Given the description of an element on the screen output the (x, y) to click on. 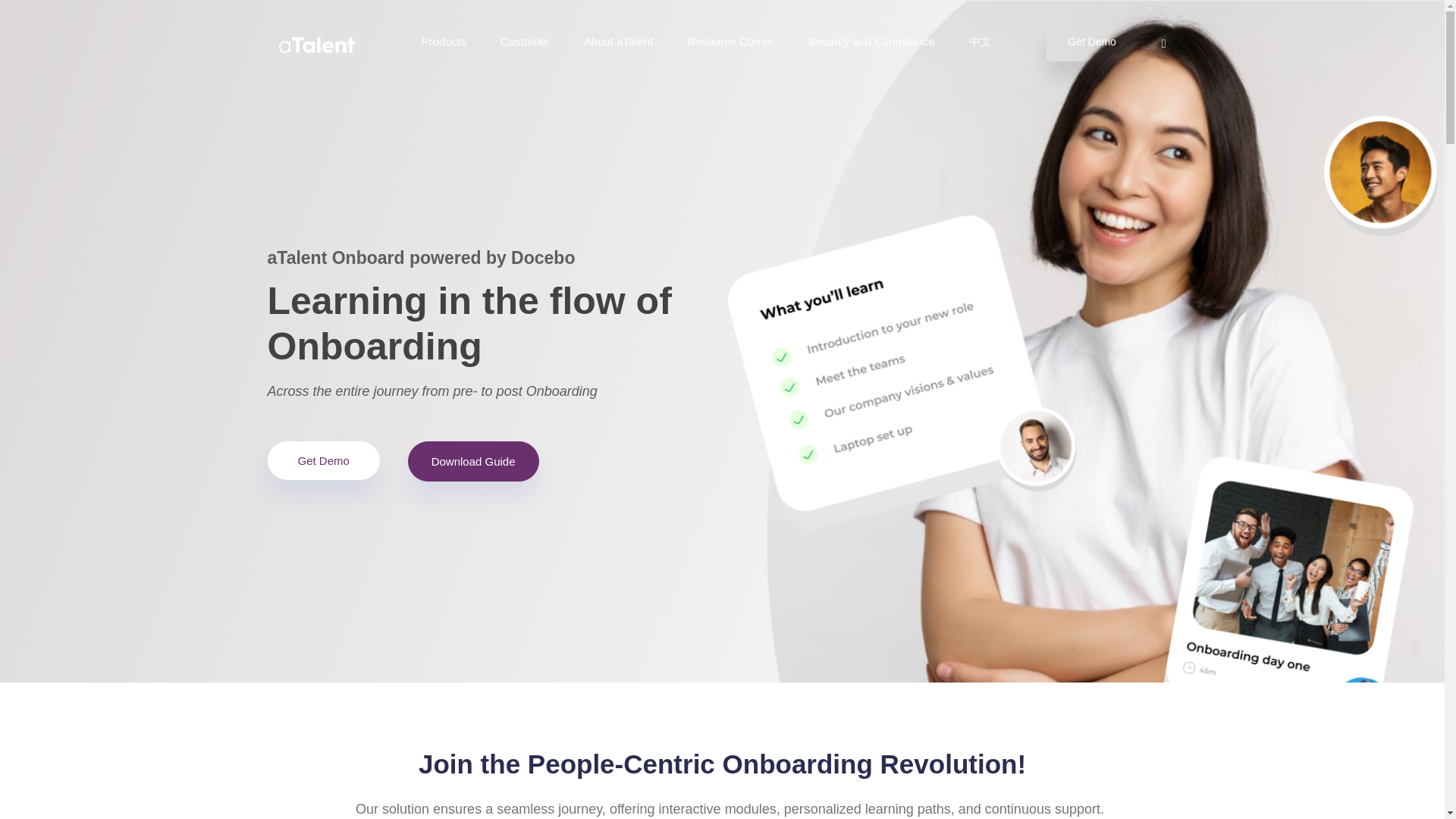
Security and Compliance (871, 41)
Get Demo (322, 460)
Resource Corner (730, 41)
Products (443, 41)
Download Guide (472, 461)
About aTalent (618, 41)
Customer (525, 41)
Get Demo (1091, 41)
